Given the description of an element on the screen output the (x, y) to click on. 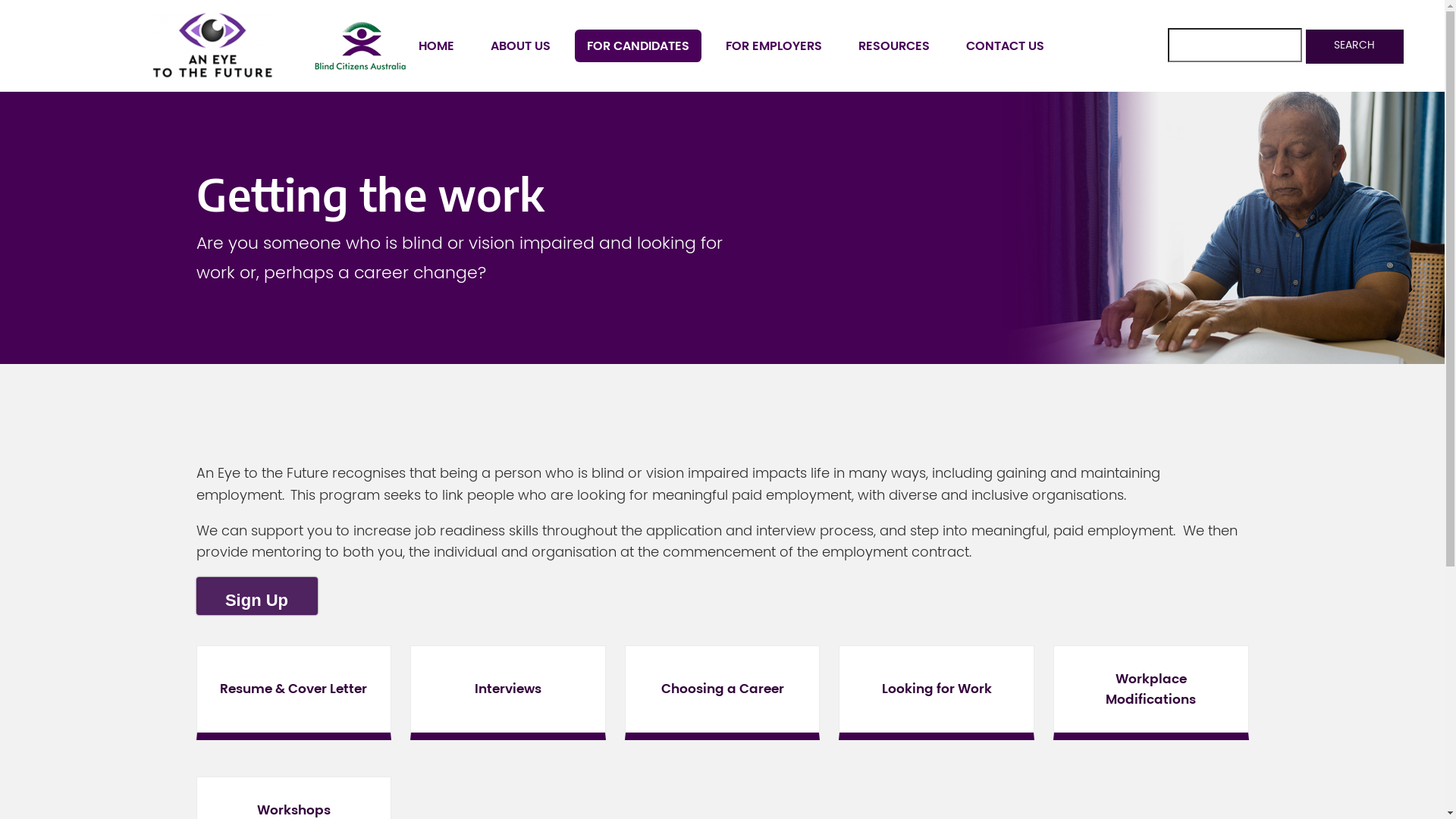
Workplace Modifications Element type: text (1150, 692)
HOME Element type: text (436, 45)
FOR EMPLOYERS Element type: text (773, 45)
Search Element type: text (1354, 46)
ABOUT US Element type: text (520, 45)
CONTACT US Element type: text (1004, 45)
Resume & Cover Letter Element type: text (293, 692)
Sign Up Element type: text (255, 596)
Looking for Work Element type: text (936, 692)
Choosing a Career Element type: text (722, 692)
FOR CANDIDATES Element type: text (637, 45)
Interviews Element type: text (507, 692)
RESOURCES Element type: text (893, 45)
